Given the description of an element on the screen output the (x, y) to click on. 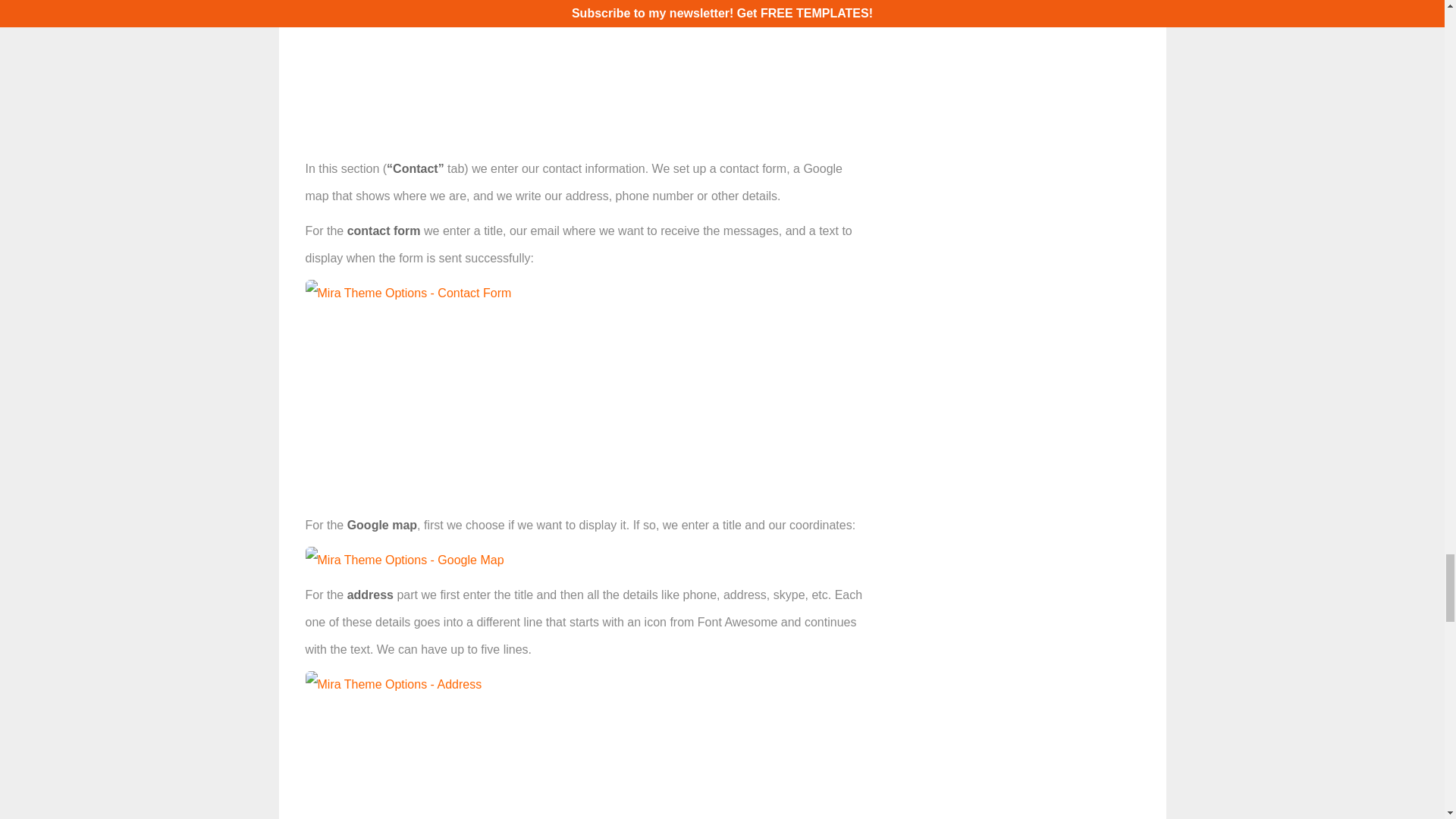
Mira Theme Options - Contact Form (407, 293)
Mira Theme Options - Address (392, 684)
Mira Theme Options - Google Map (403, 560)
